Given the description of an element on the screen output the (x, y) to click on. 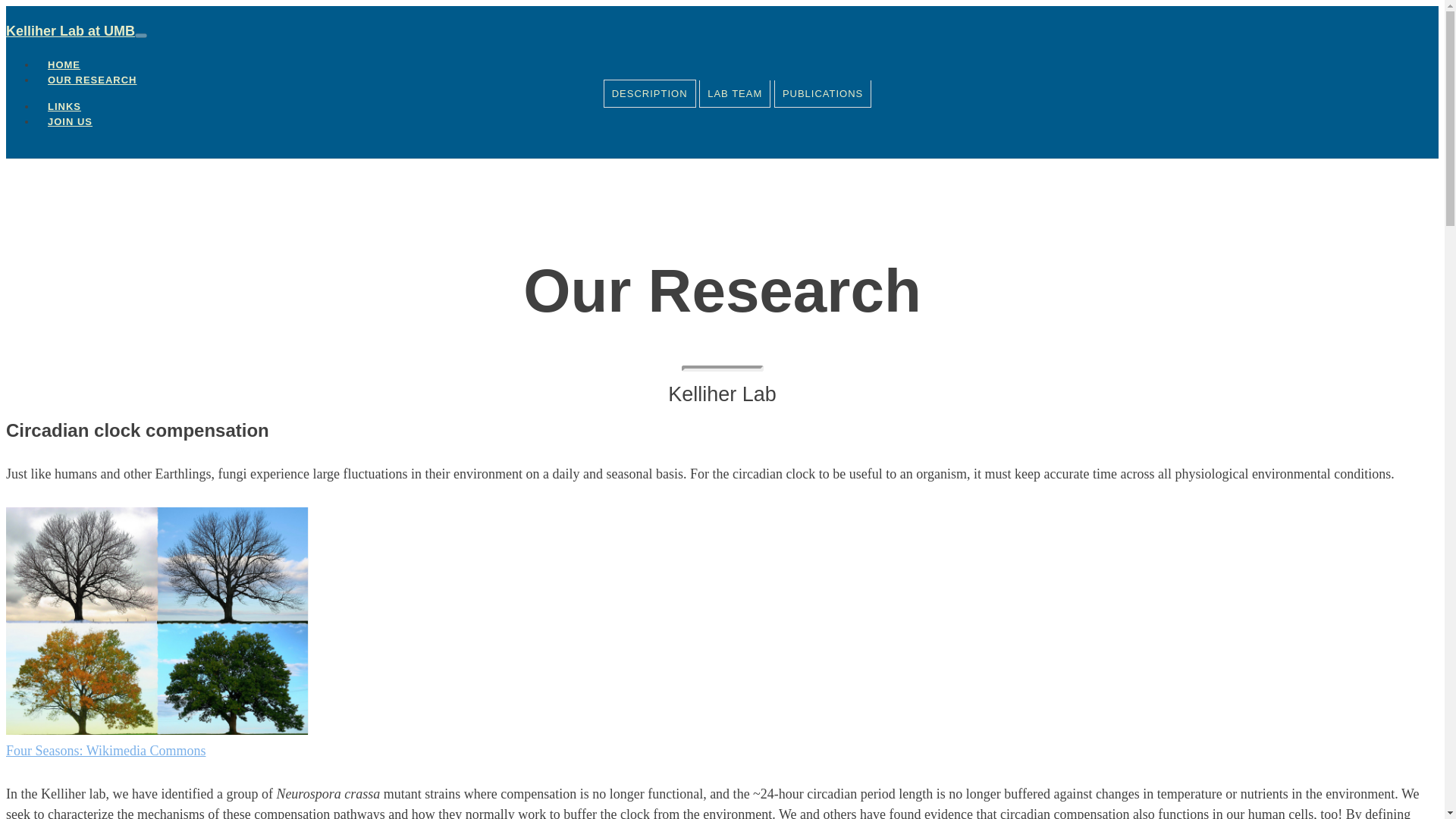
JOIN US (64, 121)
Four Seasons: Wikimedia Commons (105, 750)
Kelliher Lab at UMB (70, 30)
LAB TEAM (734, 93)
LINKS (64, 106)
HOME (63, 64)
PUBLICATIONS (822, 93)
DESCRIPTION (649, 93)
OUR RESEARCH (92, 80)
